Given the description of an element on the screen output the (x, y) to click on. 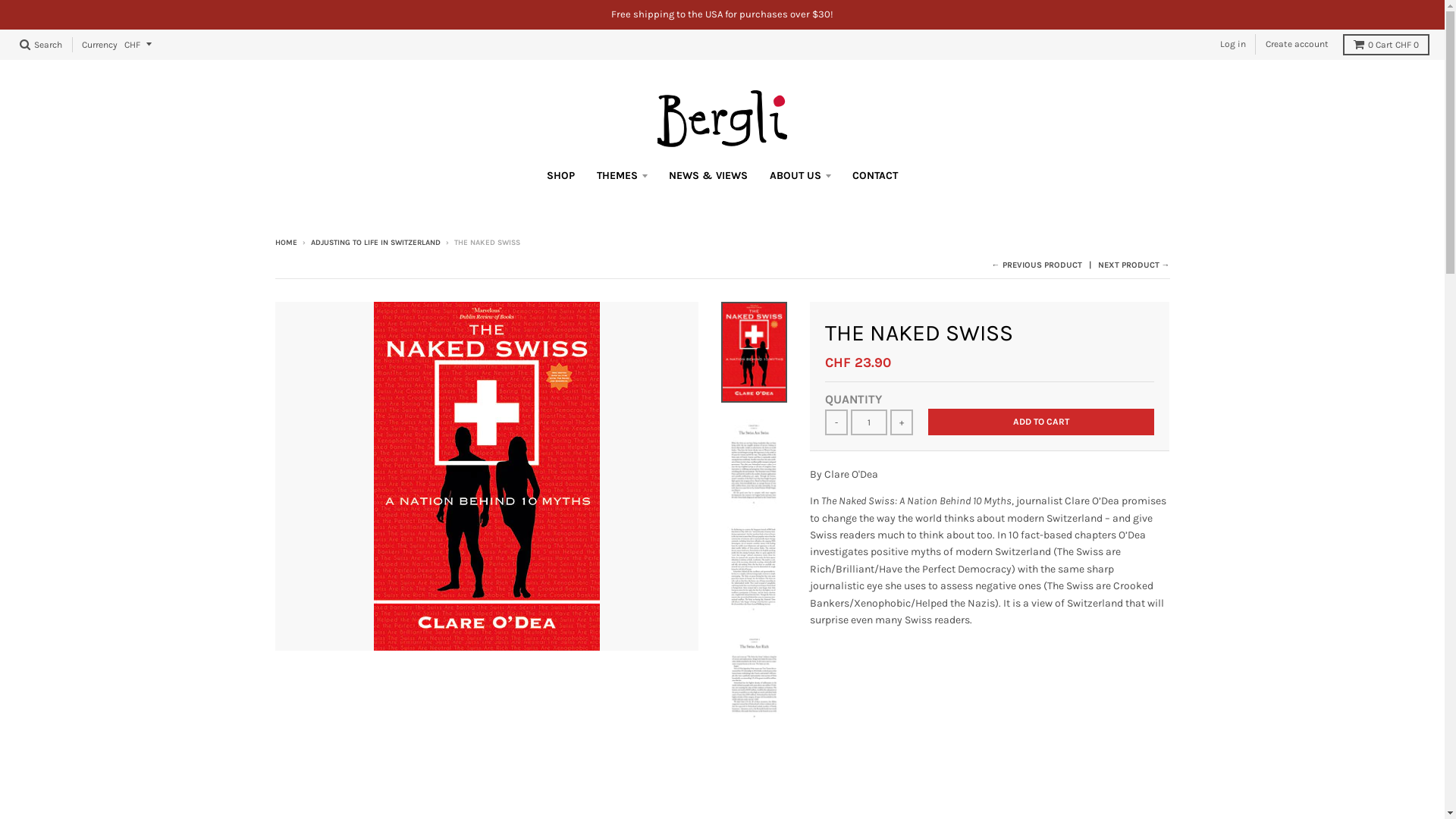
HOME Element type: text (285, 242)
0 Cart CHF 0 Element type: text (1386, 44)
ABOUT US Element type: text (799, 175)
Log in Element type: text (1232, 44)
+ Element type: text (901, 422)
THEMES Element type: text (621, 175)
NEWS & VIEWS Element type: text (707, 175)
Create account Element type: text (1297, 44)
ADD TO CART Element type: text (1041, 421)
SHOP Element type: text (560, 175)
ADJUSTING TO LIFE IN SWITZERLAND Element type: text (375, 242)
- Element type: text (836, 422)
Search Element type: text (40, 44)
CONTACT Element type: text (874, 175)
